Given the description of an element on the screen output the (x, y) to click on. 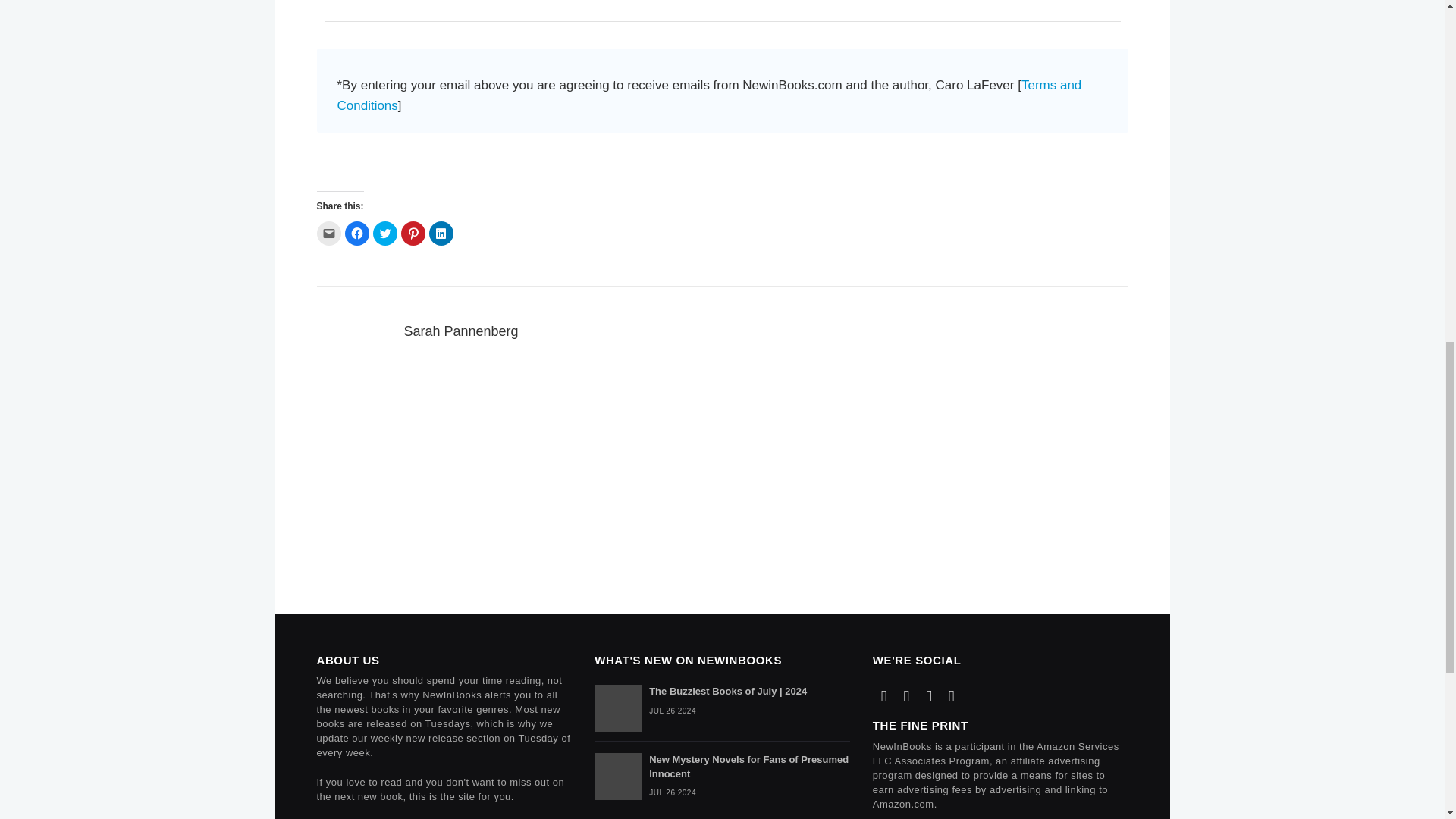
Click to email this to a friend (328, 233)
Click to share on Facebook (355, 233)
Click to share on Twitter (384, 233)
Terms and Conditions (708, 95)
Click to share on LinkedIn (440, 233)
Click to share on Pinterest (412, 233)
